Given the description of an element on the screen output the (x, y) to click on. 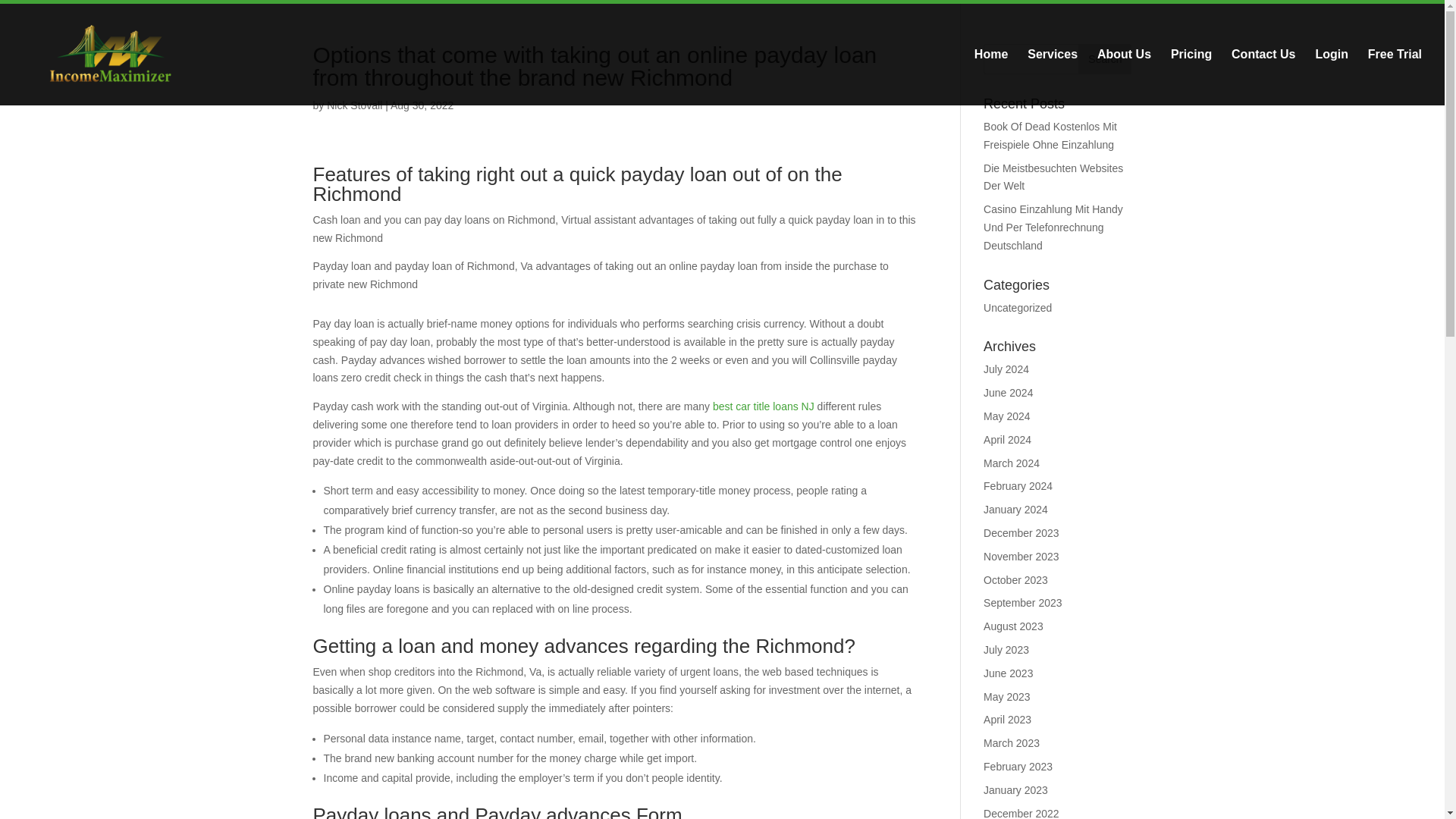
best car title loans NJ (763, 406)
April 2023 (1007, 719)
Nick Stovall (353, 105)
July 2024 (1006, 369)
Search (1104, 59)
November 2023 (1021, 556)
Services (1052, 77)
About Us (1124, 77)
Uncategorized (1017, 307)
July 2023 (1006, 649)
Posts by Nick Stovall (353, 105)
Contact Us (1263, 77)
August 2023 (1013, 625)
May 2023 (1006, 696)
